Given the description of an element on the screen output the (x, y) to click on. 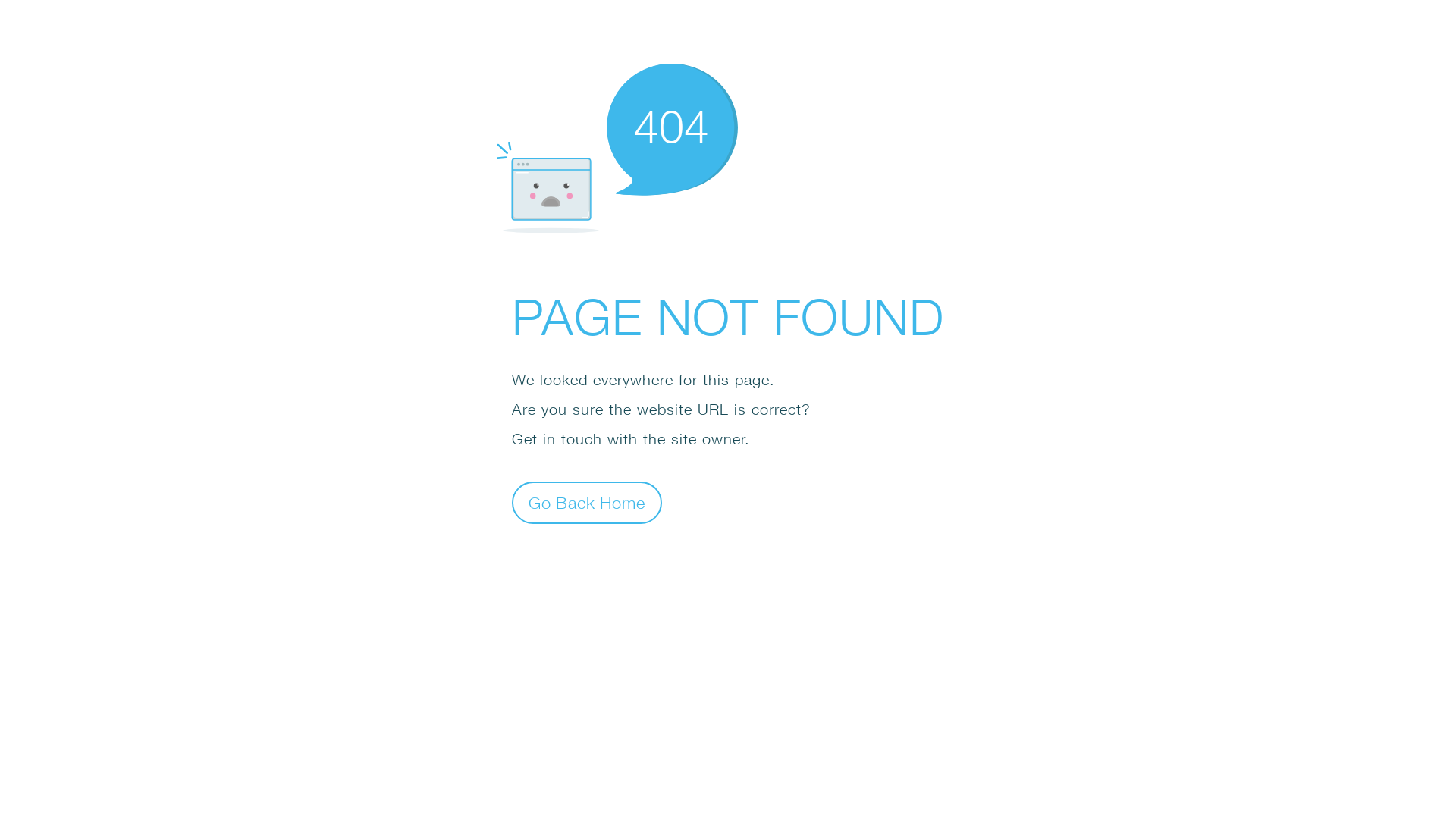
Go Back Home Element type: text (586, 502)
